Given the description of an element on the screen output the (x, y) to click on. 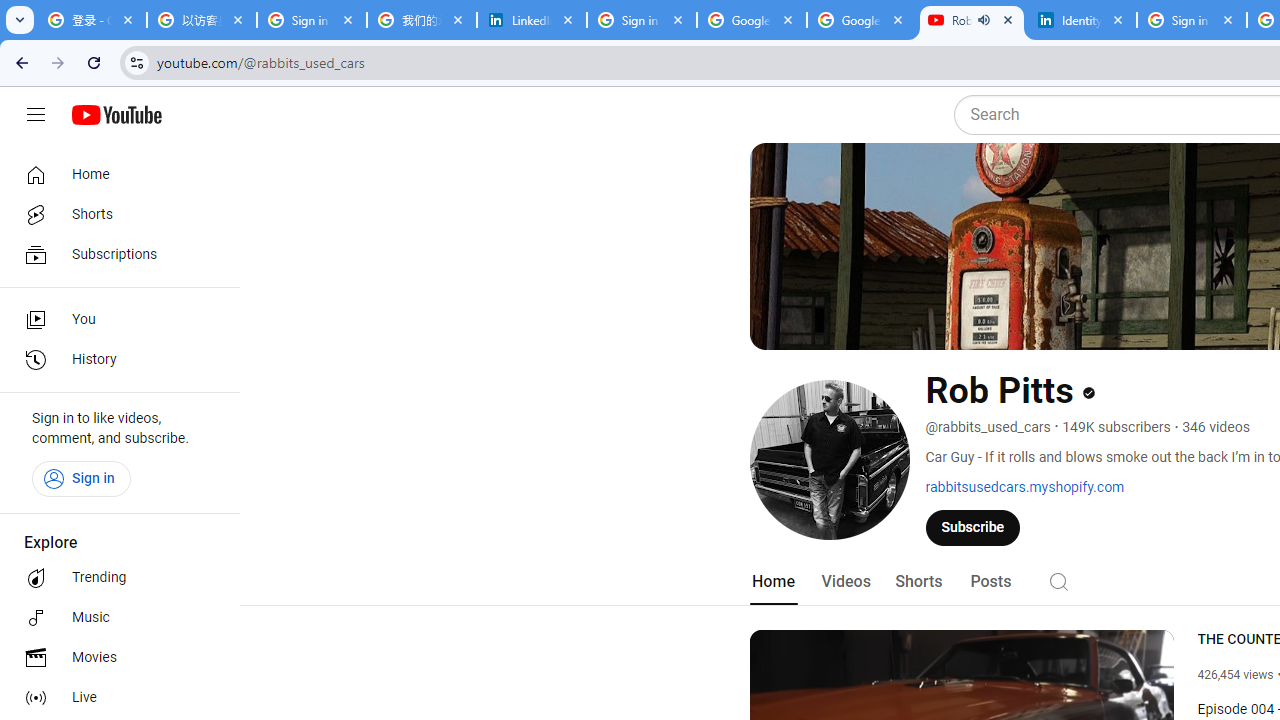
Identity verification via Persona | LinkedIn Help (1081, 20)
Rob Pitts - YouTube - Audio playing (971, 20)
Home (772, 581)
Live (113, 697)
Subscriptions (113, 254)
Mute tab (983, 20)
Search (1058, 580)
Guide (35, 115)
